Given the description of an element on the screen output the (x, y) to click on. 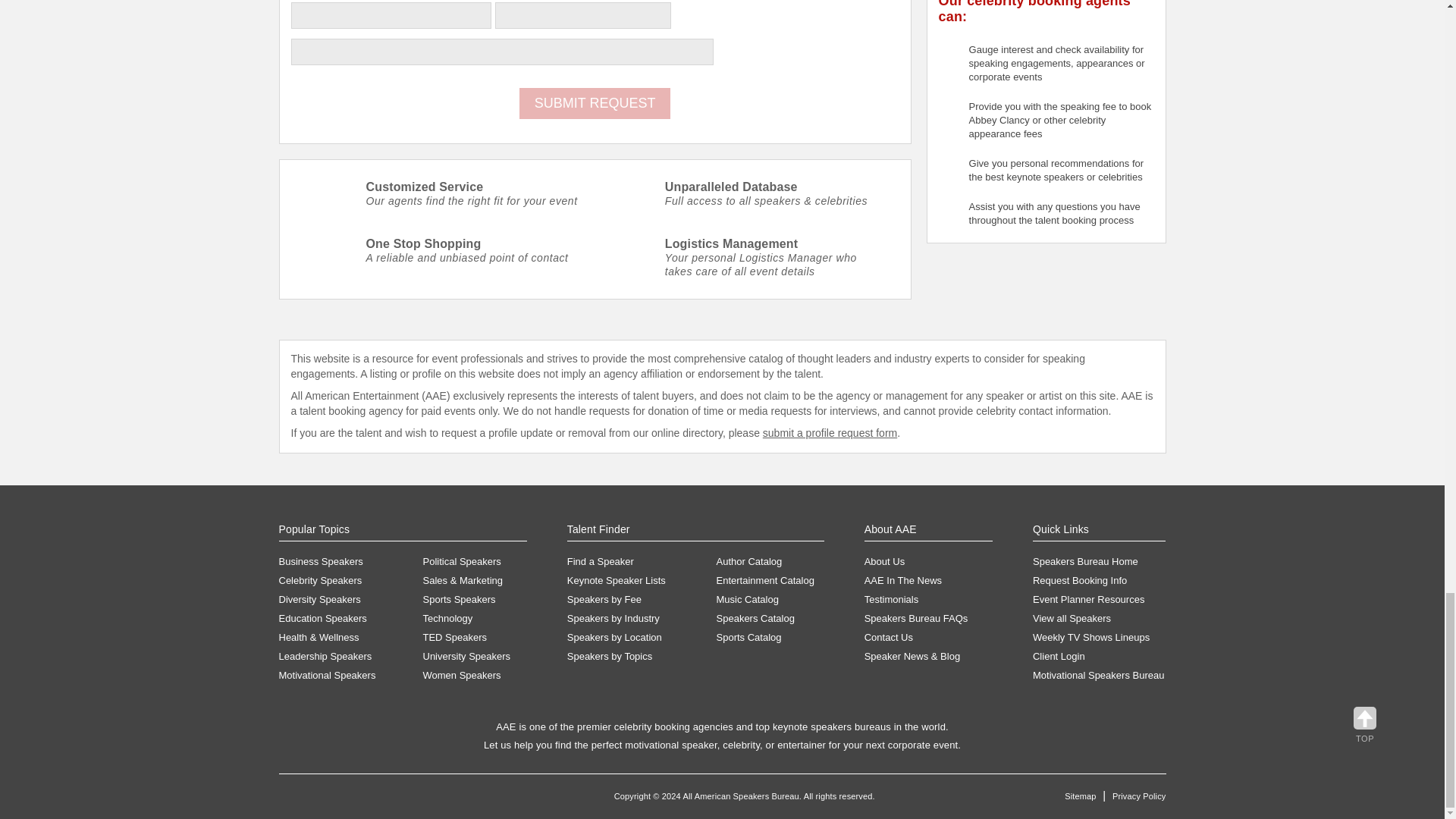
You Tube (379, 804)
Facebook (290, 804)
Twitter (319, 804)
Instagram (409, 804)
Linkedin (349, 804)
SUBMIT REQUEST (595, 102)
